Given the description of an element on the screen output the (x, y) to click on. 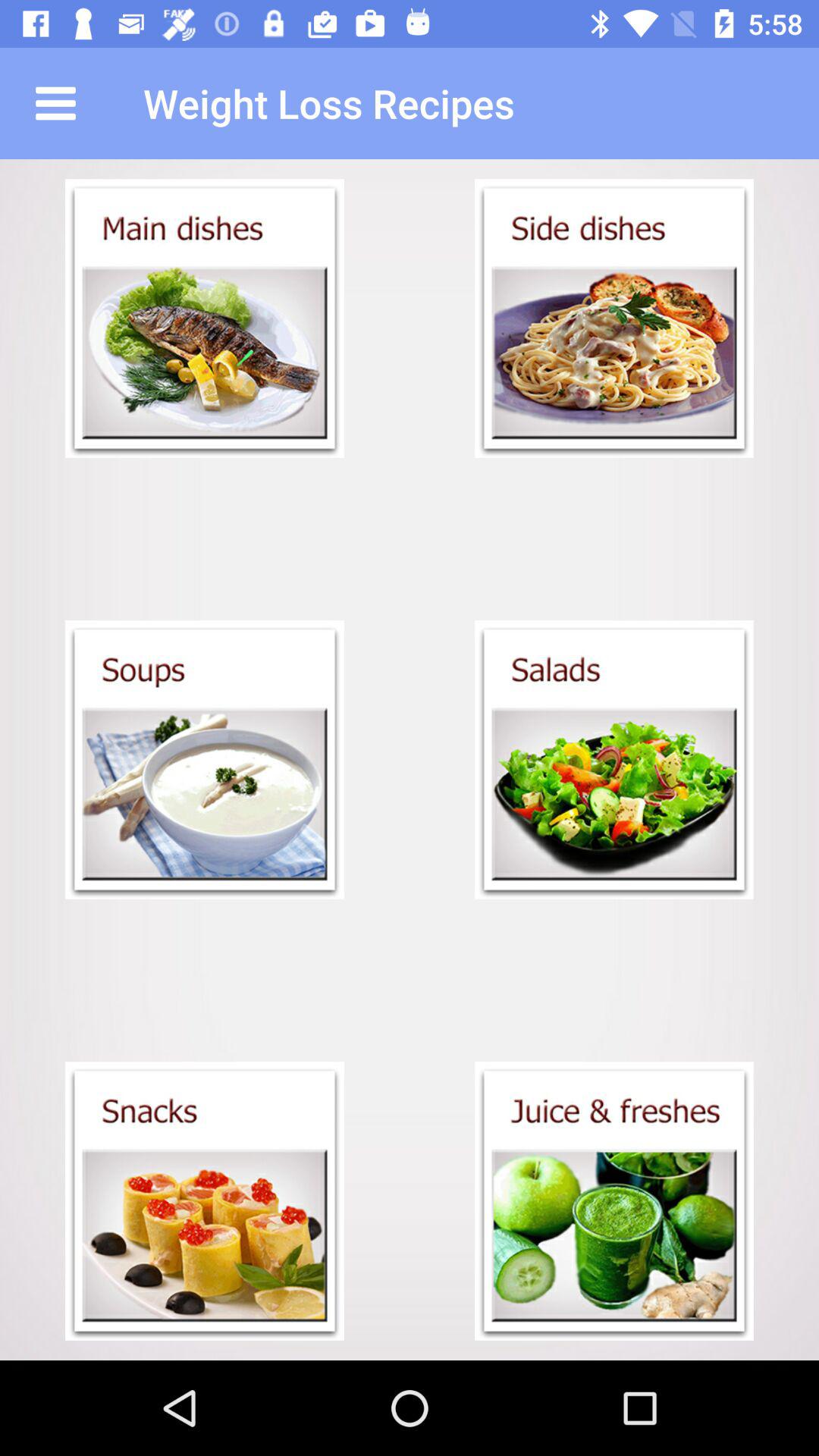
open the icon on the right (614, 759)
